Given the description of an element on the screen output the (x, y) to click on. 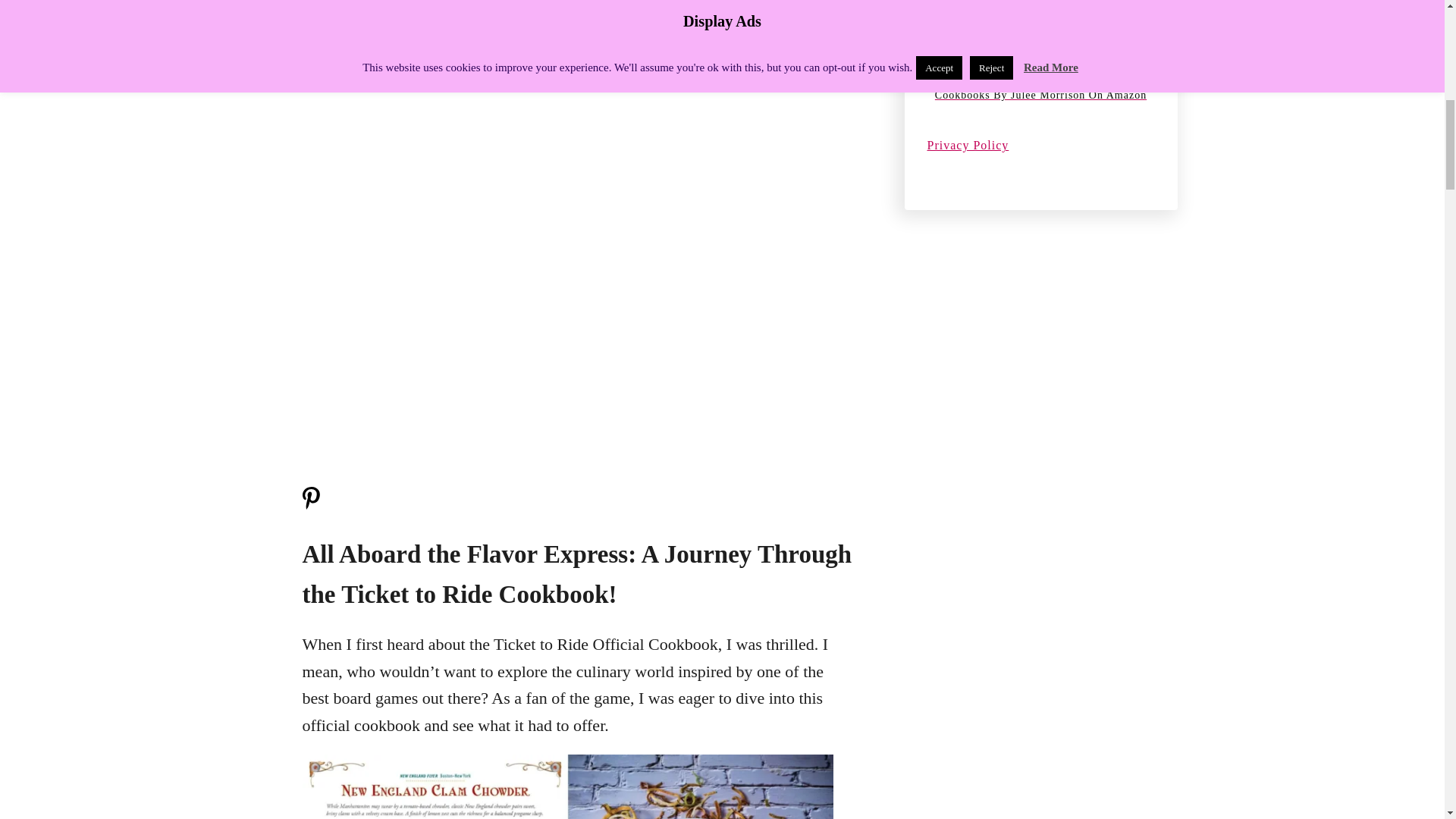
Pin Me! (309, 505)
Cookbooks By Julee Morrison On Amazon (1040, 95)
